Given the description of an element on the screen output the (x, y) to click on. 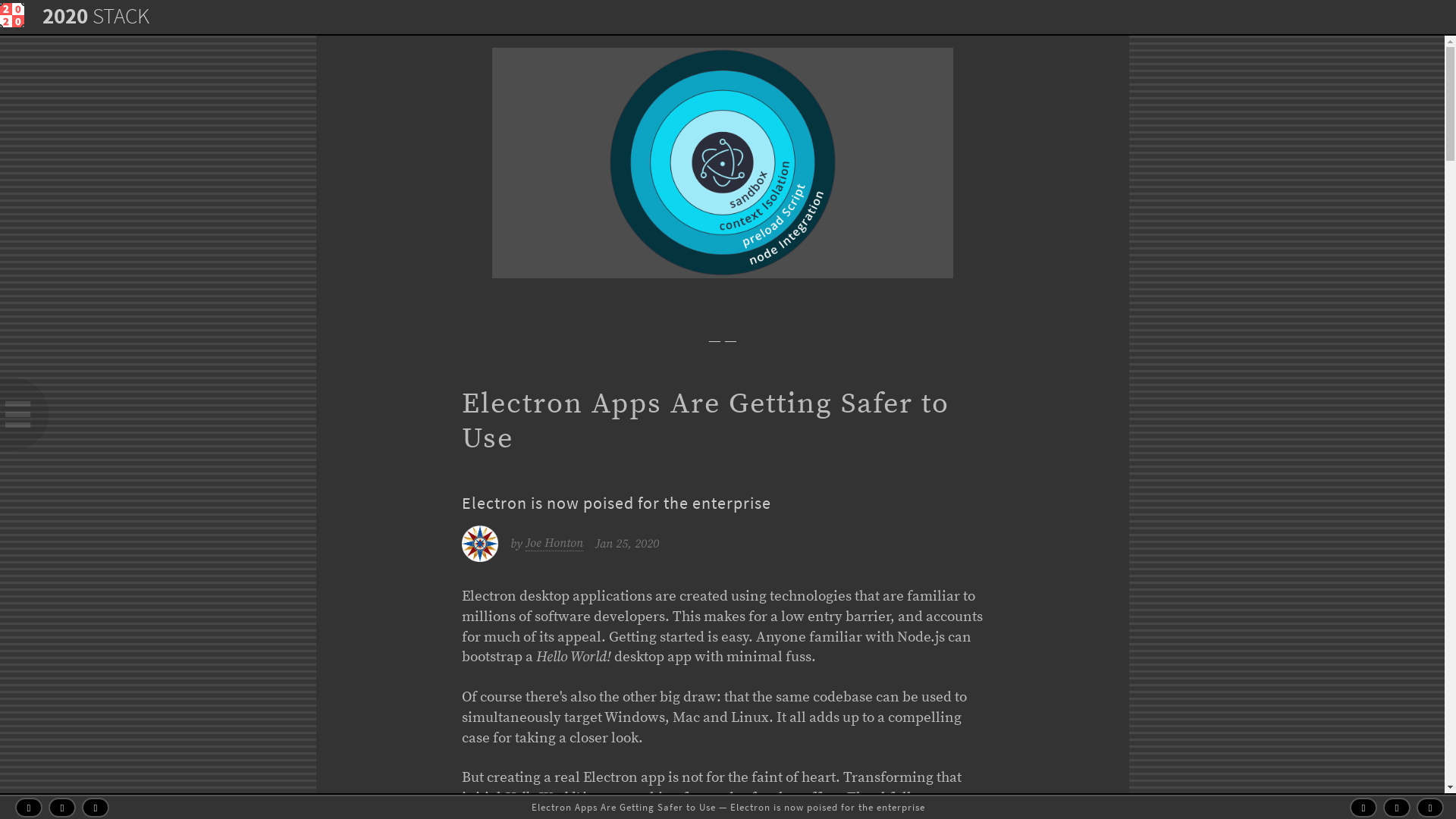
Menu (F1) Element type: hover (12, 17)
Joe Honton Element type: text (553, 543)
